Given the description of an element on the screen output the (x, y) to click on. 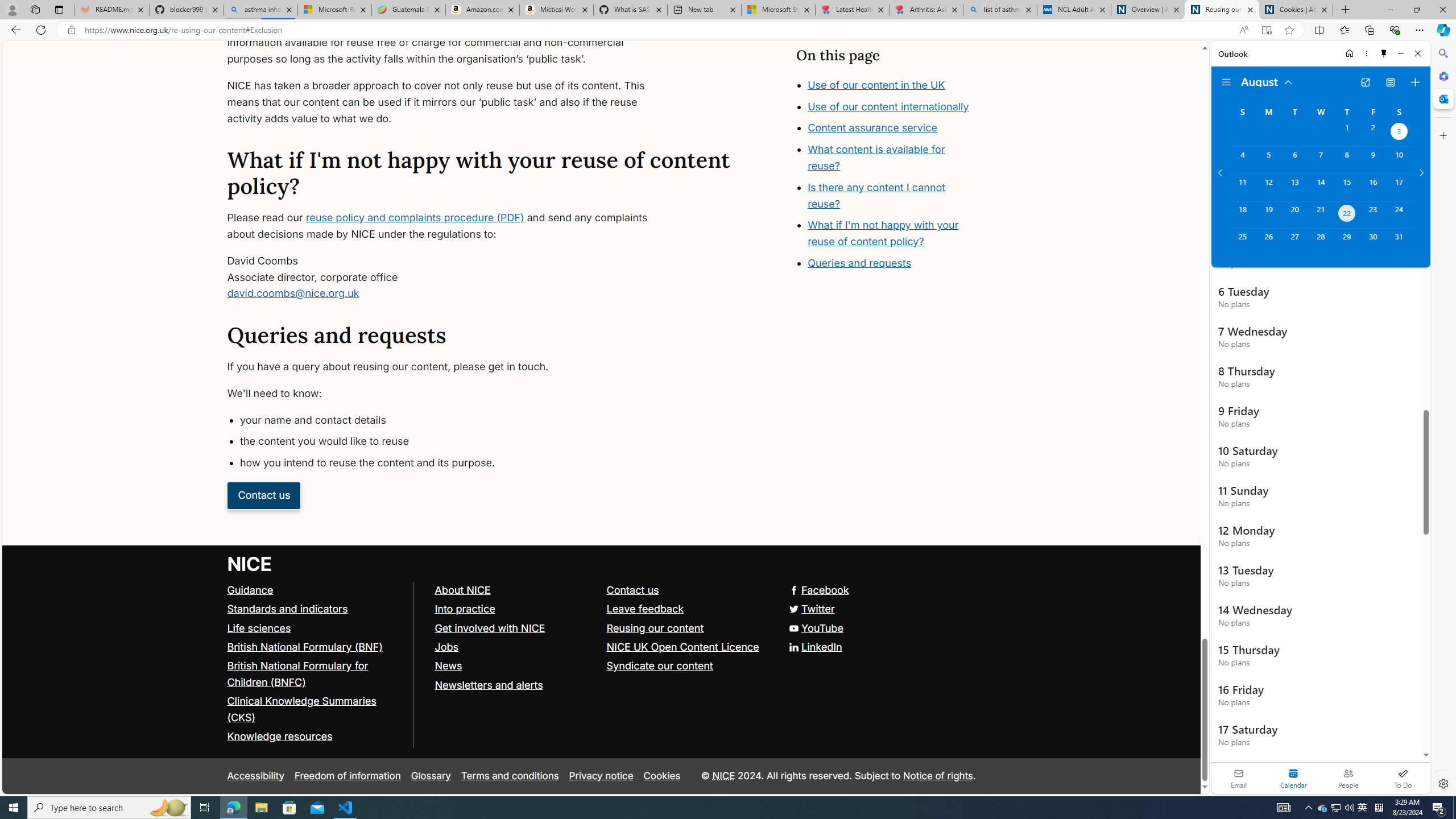
Sunday, August 11, 2024.  (1242, 186)
Reusing our content | NICE (1221, 9)
Create event (1414, 82)
Knowledge resources (280, 736)
asthma inhaler - Search (260, 9)
Use of our content in the UK (876, 84)
Thursday, August 1, 2024.  (1346, 132)
Is there any content I cannot reuse? (877, 194)
